Given the description of an element on the screen output the (x, y) to click on. 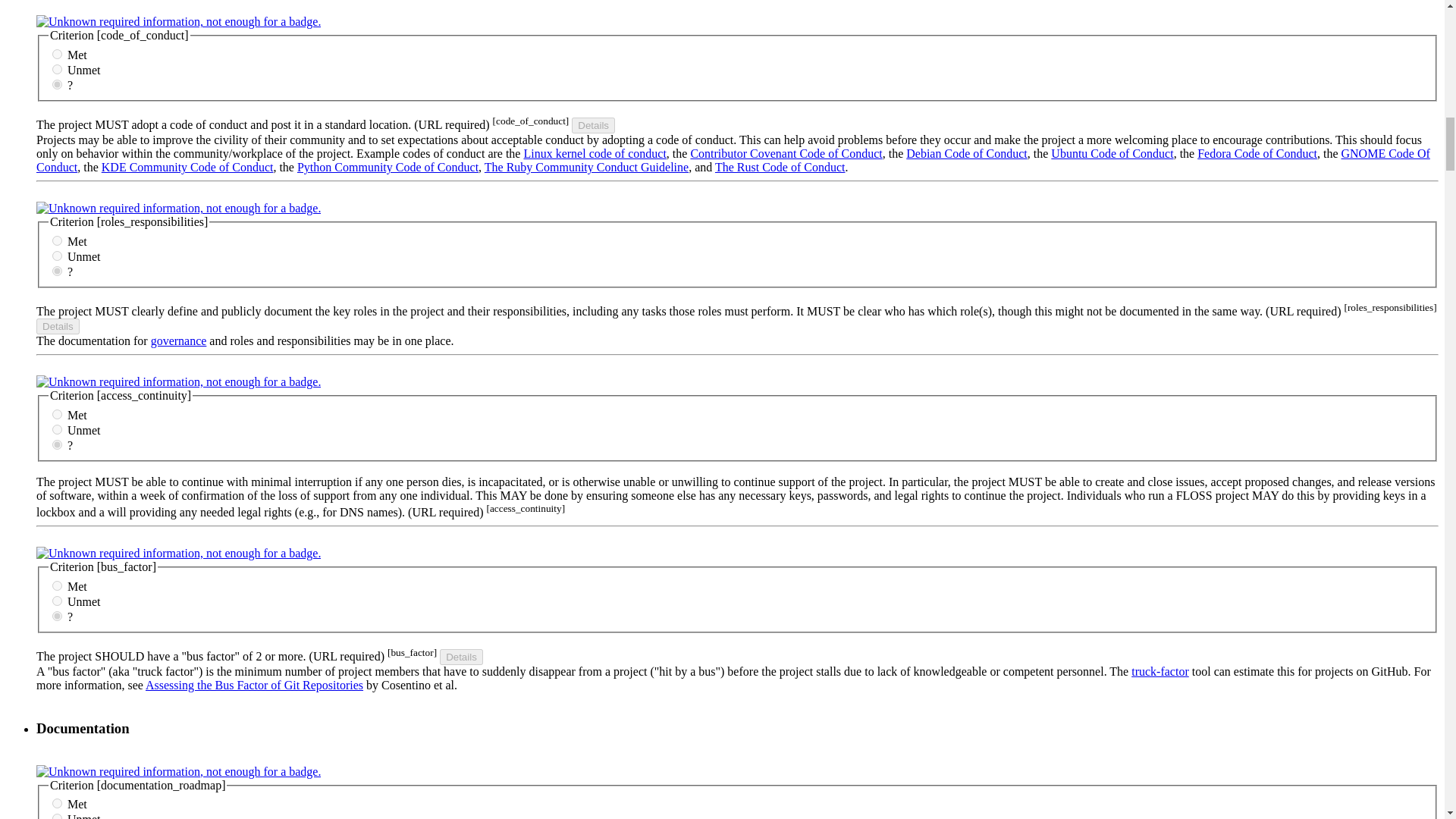
? (57, 84)
Toggle details text (593, 125)
Met (57, 53)
Unmet (57, 255)
? (57, 271)
Toggle details text (461, 657)
Met (57, 414)
Toggle details text (58, 326)
Unmet (57, 429)
Met (57, 240)
Unmet (57, 69)
